Given the description of an element on the screen output the (x, y) to click on. 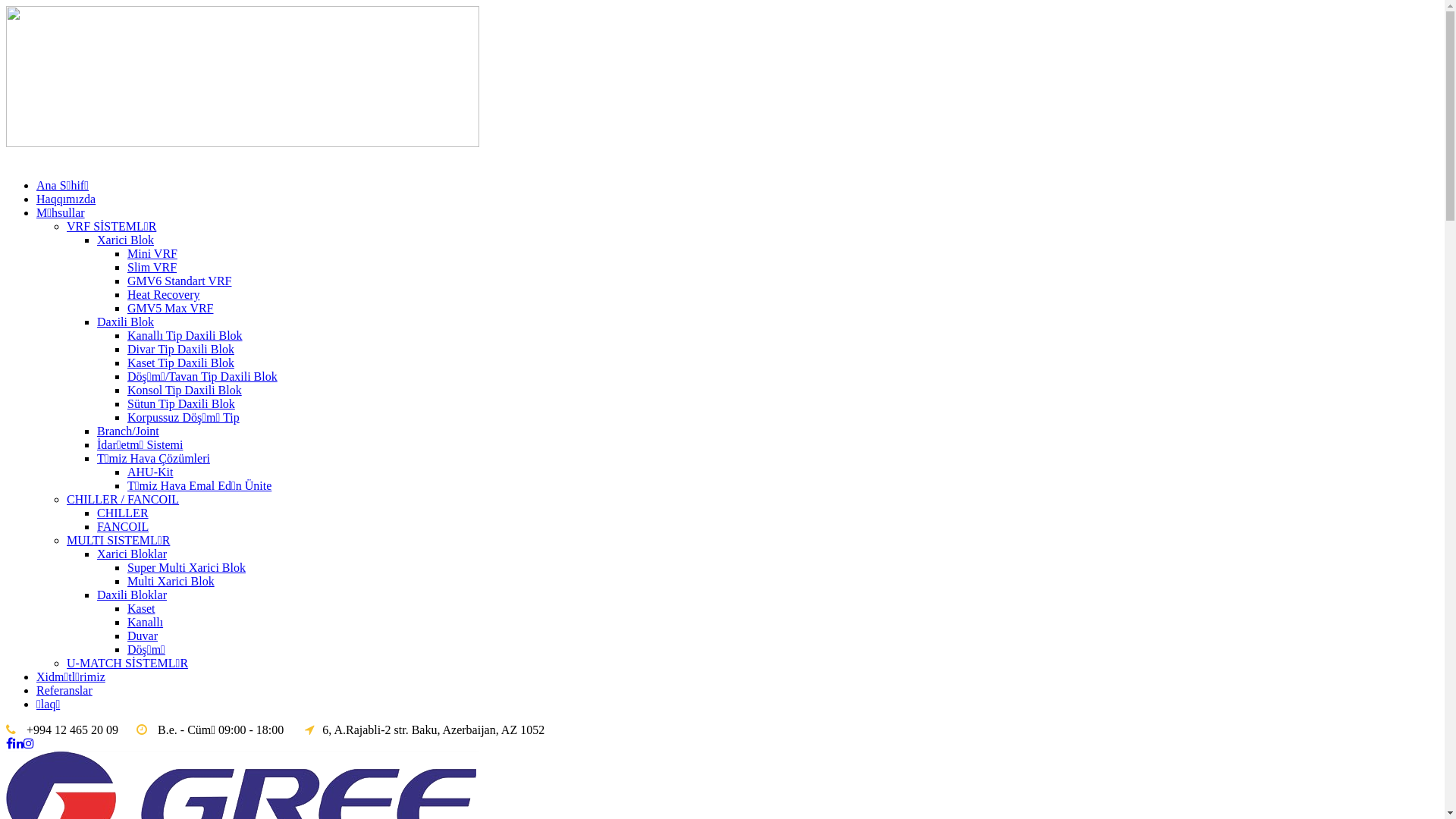
Heat Recovery Element type: text (163, 294)
facebook Element type: hover (9, 743)
Duvar Element type: text (142, 635)
Multi Xarici Blok Element type: text (170, 580)
Divar Tip Daxili Blok Element type: text (180, 348)
Kaset Tip Daxili Blok Element type: text (180, 362)
Branch/Joint Element type: text (128, 430)
Gree Element type: hover (242, 76)
Daxili Bloklar Element type: text (131, 594)
Xarici Blok Element type: text (125, 239)
Super Multi Xarici Blok Element type: text (186, 567)
Slim VRF Element type: text (151, 266)
GMV5 Max VRF Element type: text (170, 307)
Daxili Blok Element type: text (125, 321)
FANCOIL Element type: text (122, 526)
instagram Element type: hover (28, 743)
Xarici Bloklar Element type: text (131, 553)
GMV6 Standart VRF Element type: text (179, 280)
CHILLER Element type: text (122, 512)
AHU-Kit Element type: text (149, 471)
CHILLER / FANCOIL Element type: text (122, 498)
Konsol Tip Daxili Blok Element type: text (184, 389)
linkedin Element type: hover (17, 743)
Mini VRF Element type: text (152, 253)
Kaset Element type: text (140, 608)
Referanslar Element type: text (64, 690)
